Given the description of an element on the screen output the (x, y) to click on. 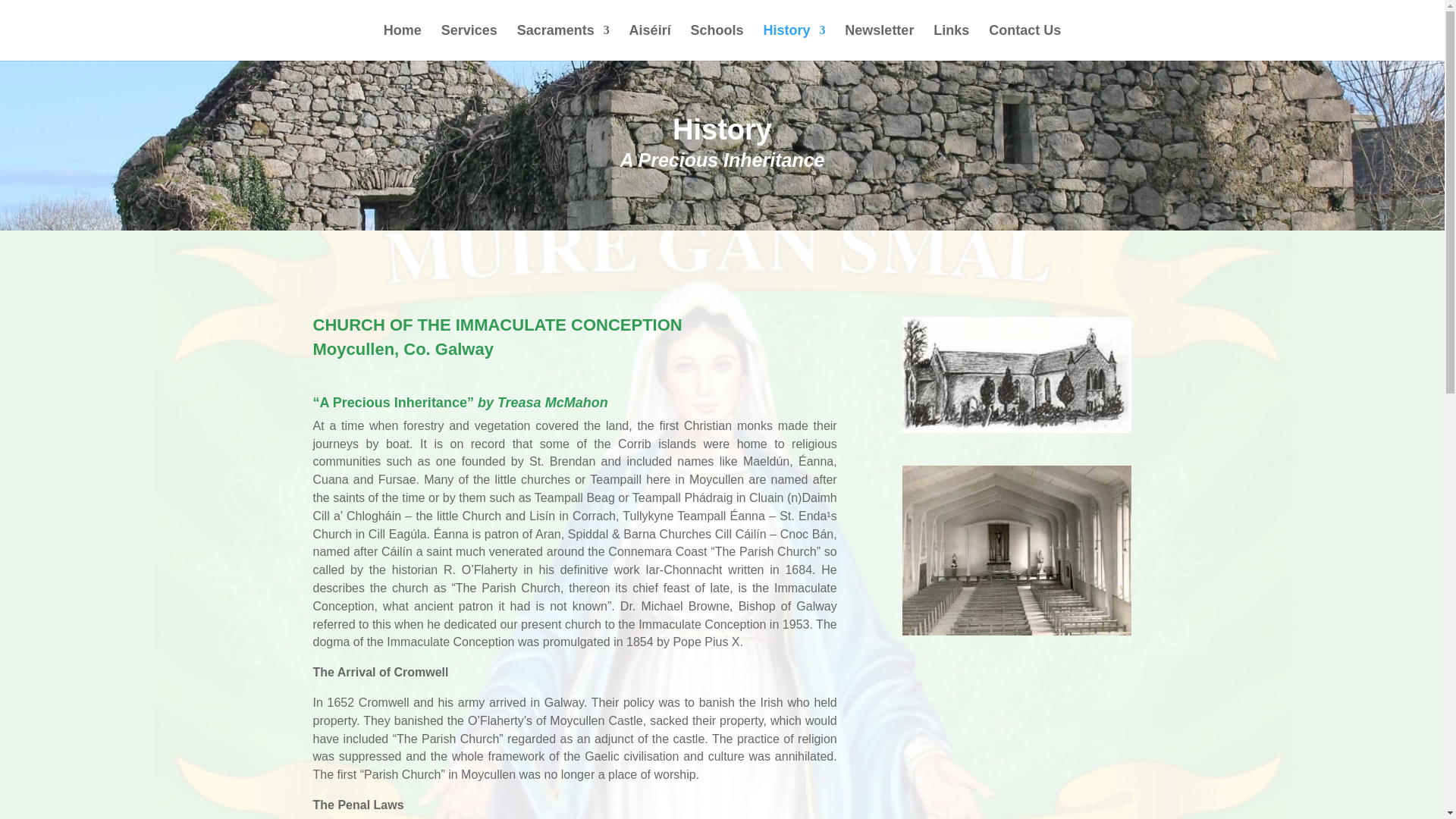
Schools (717, 42)
Sacraments (563, 42)
Newsletter (879, 42)
Contact Us (1024, 42)
History (793, 42)
Home (403, 42)
Links (951, 42)
Services (469, 42)
